Given the description of an element on the screen output the (x, y) to click on. 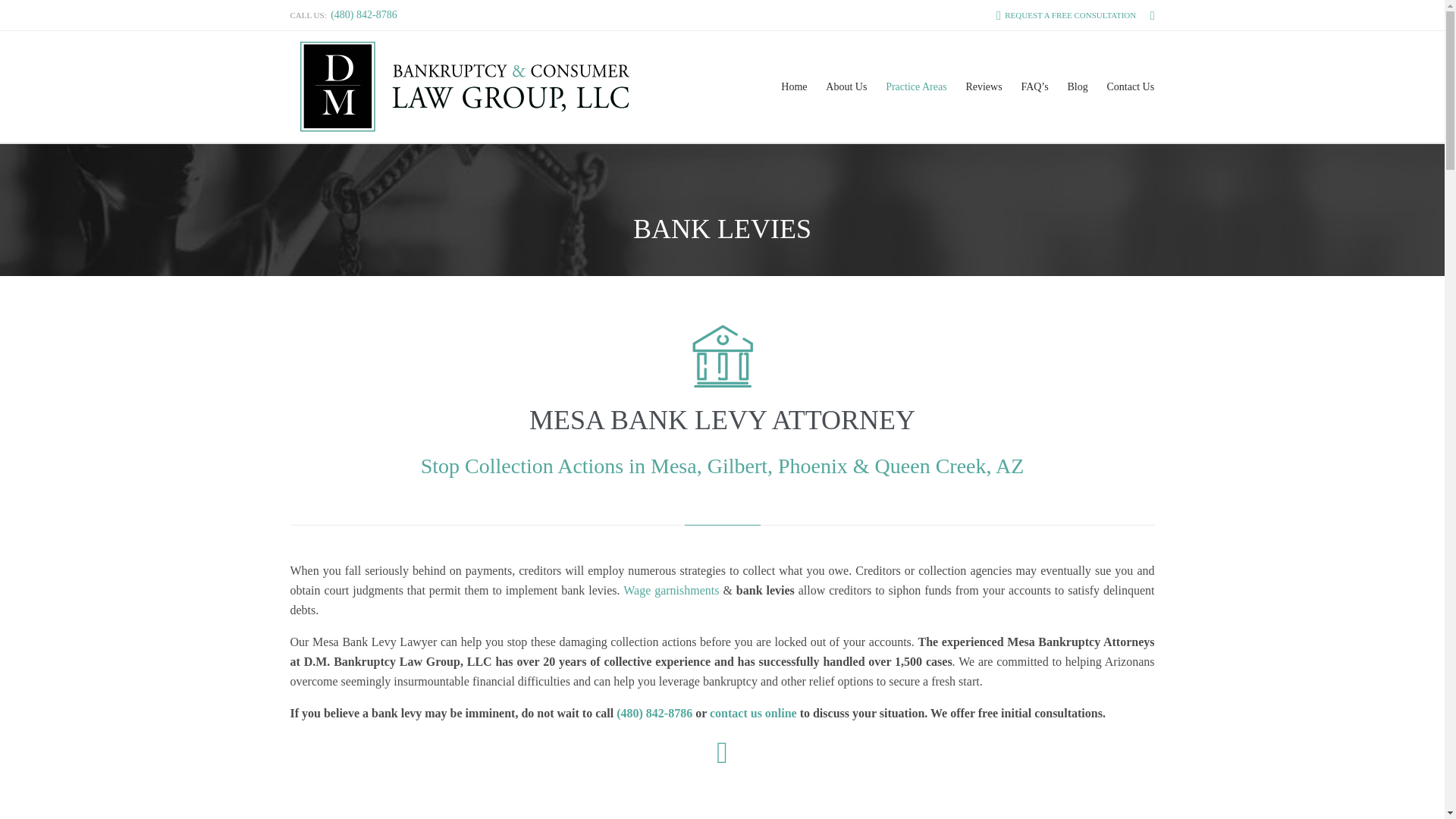
Home (793, 85)
Practice Areas (916, 85)
About Us (846, 85)
